Given the description of an element on the screen output the (x, y) to click on. 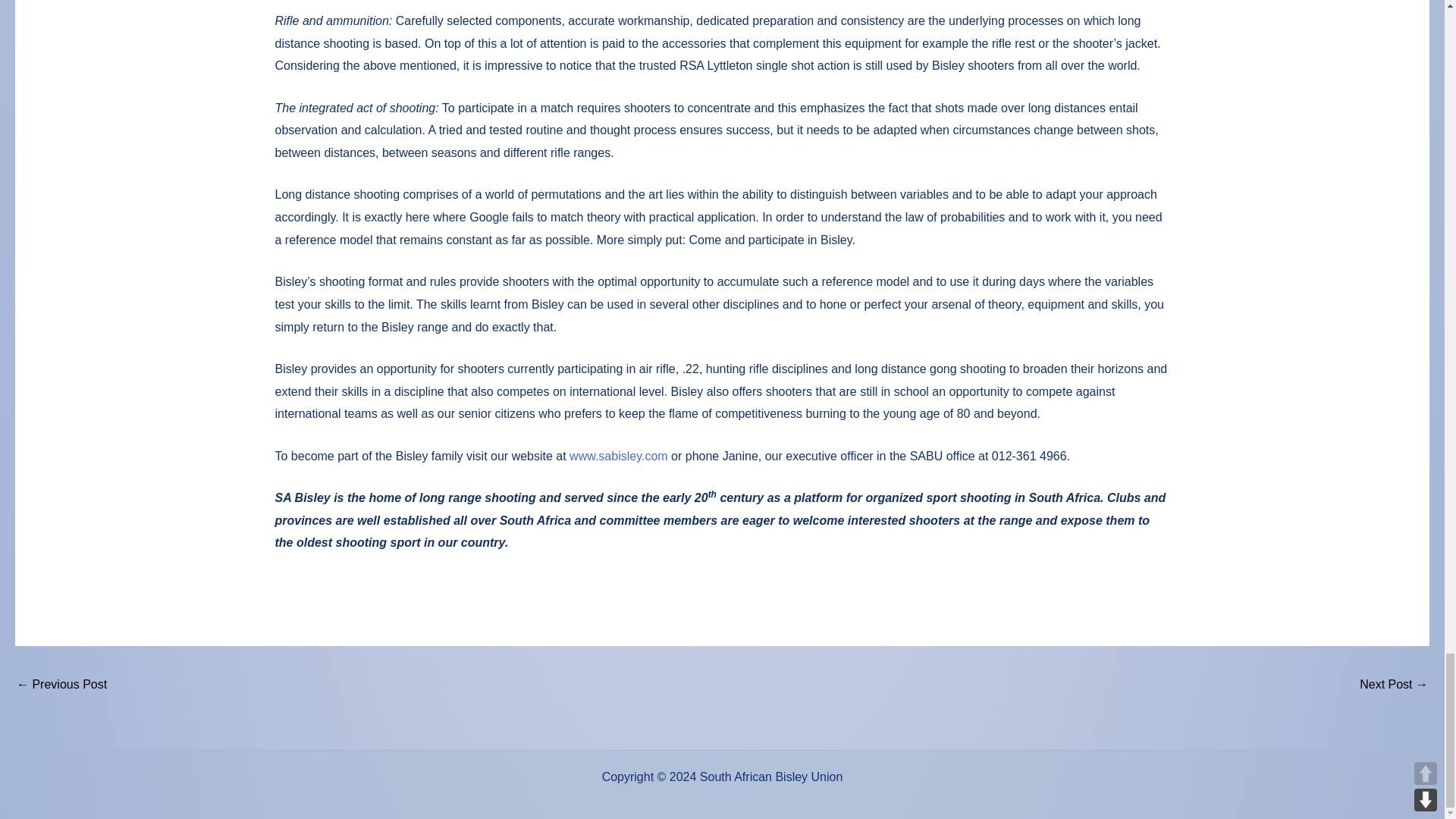
SABU 80th SA Open Championships (61, 685)
The Road to Gold - FCWC2021 (1393, 685)
